Given the description of an element on the screen output the (x, y) to click on. 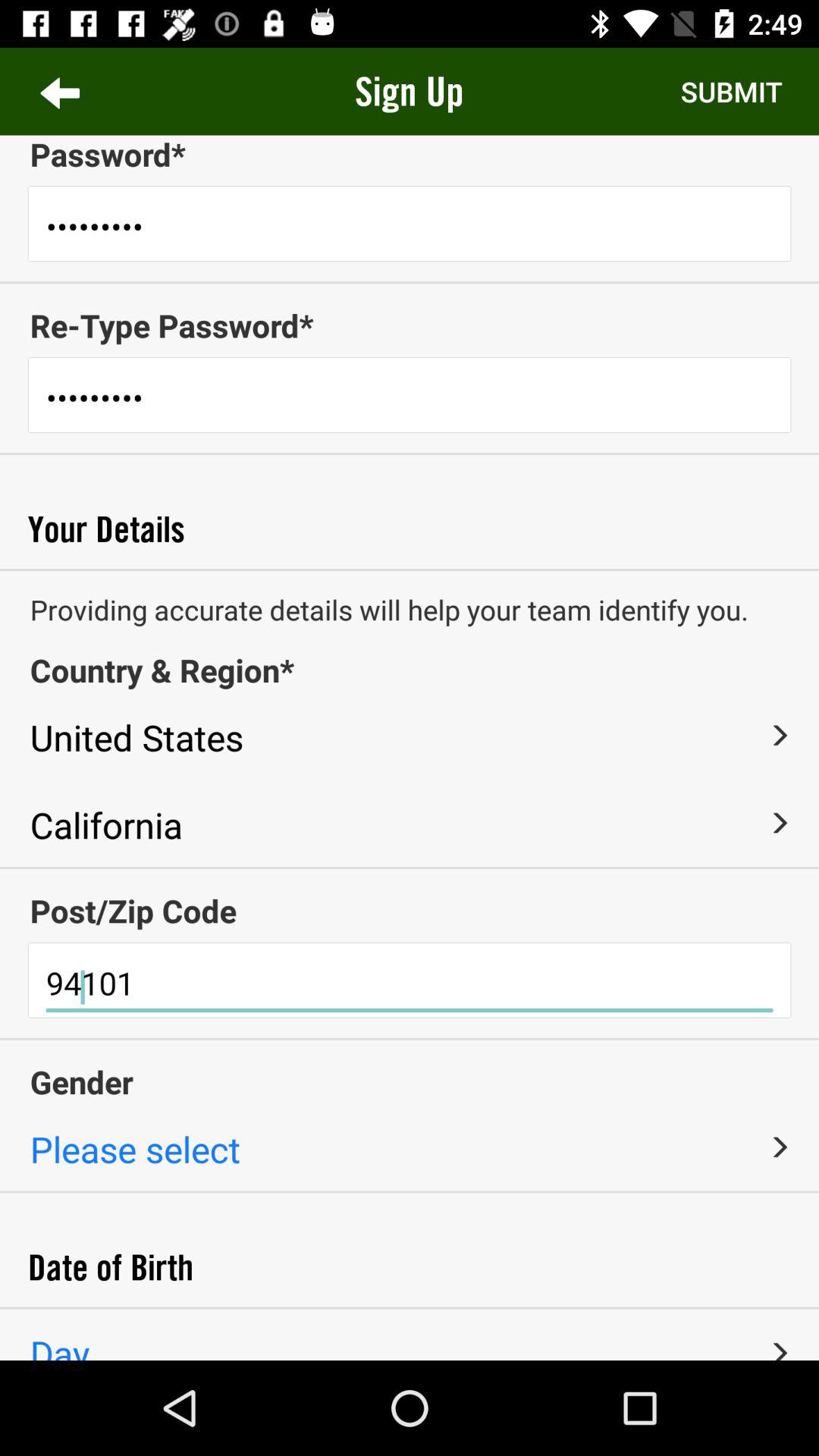
click icon above the california icon (395, 735)
